Given the description of an element on the screen output the (x, y) to click on. 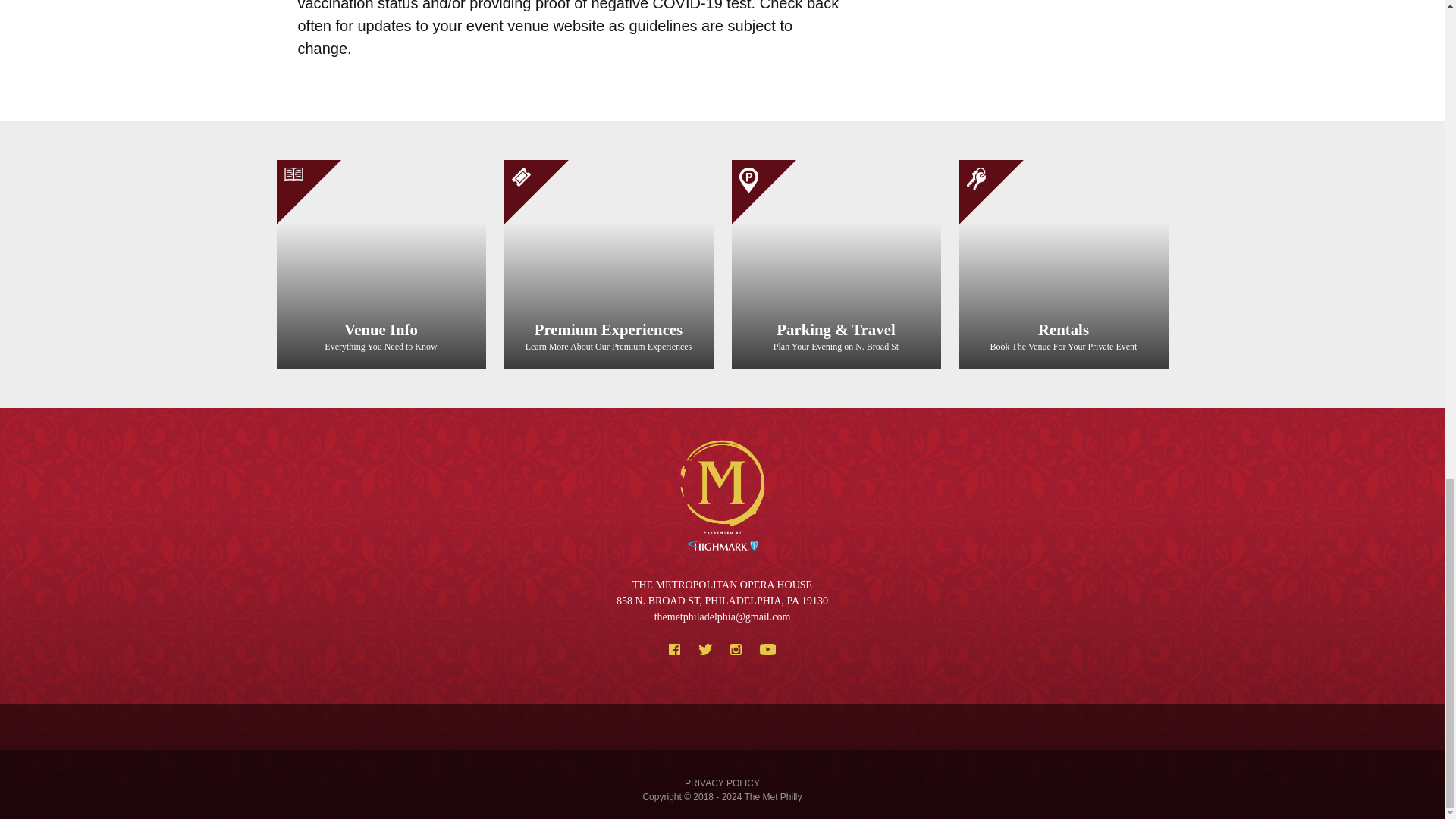
PRIVACY POLICY (722, 783)
